Given the description of an element on the screen output the (x, y) to click on. 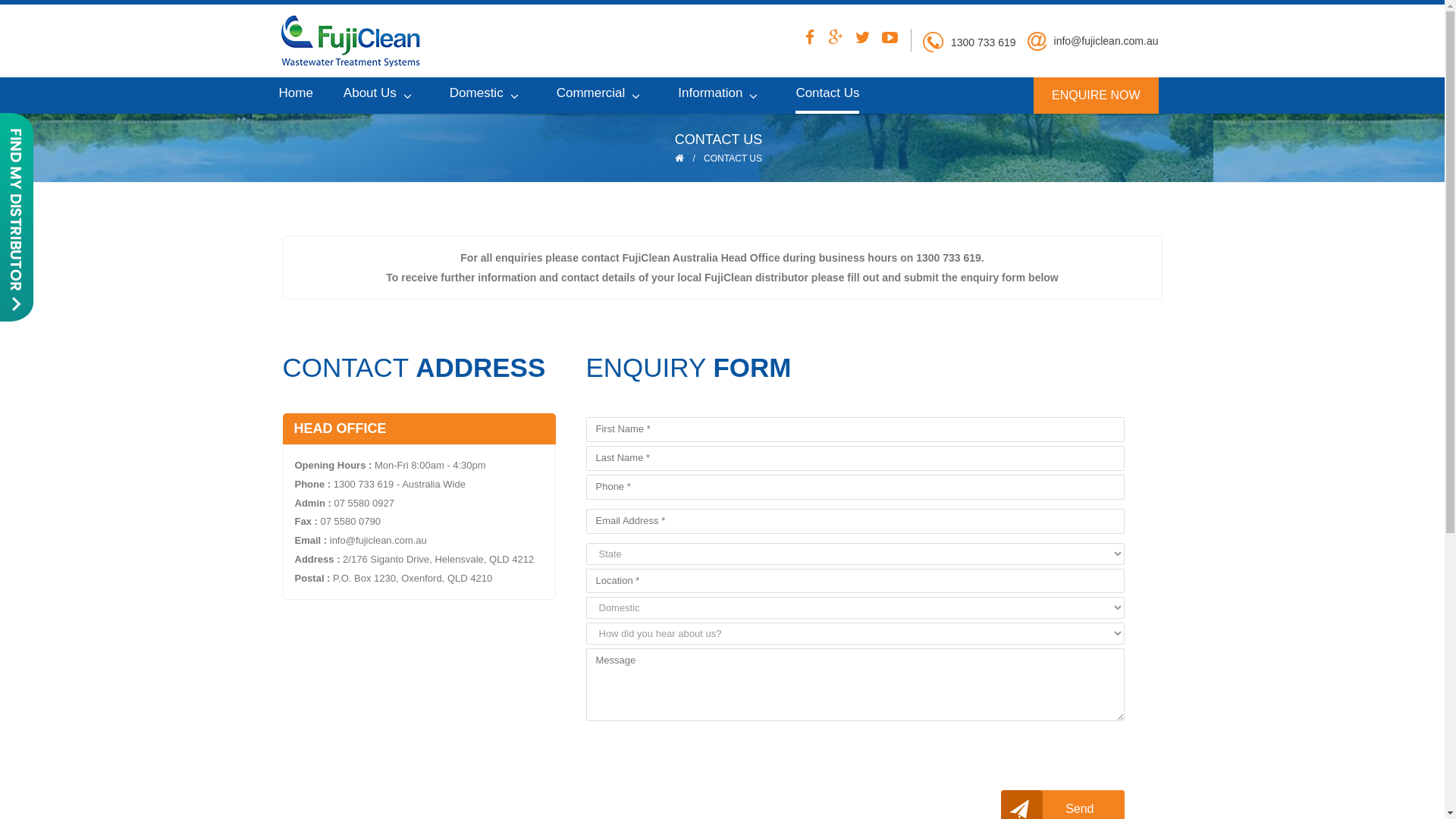
Facebook Element type: hover (810, 39)
Google+ Element type: hover (836, 39)
Commercial Element type: text (602, 93)
Contact Us Element type: text (827, 95)
About Us Element type: text (381, 93)
mail us Element type: hover (1036, 40)
ENQUIRE NOW Element type: text (1095, 94)
call us Element type: hover (932, 41)
reCAPTCHA Element type: hover (700, 755)
Information Element type: text (721, 93)
Home Element type: text (296, 93)
1300 733 619 Element type: text (983, 42)
YouTube Element type: hover (889, 39)
Domestic Element type: text (487, 93)
info@fujiclean.com.au Element type: text (1106, 40)
Twitter Element type: hover (863, 39)
